Given the description of an element on the screen output the (x, y) to click on. 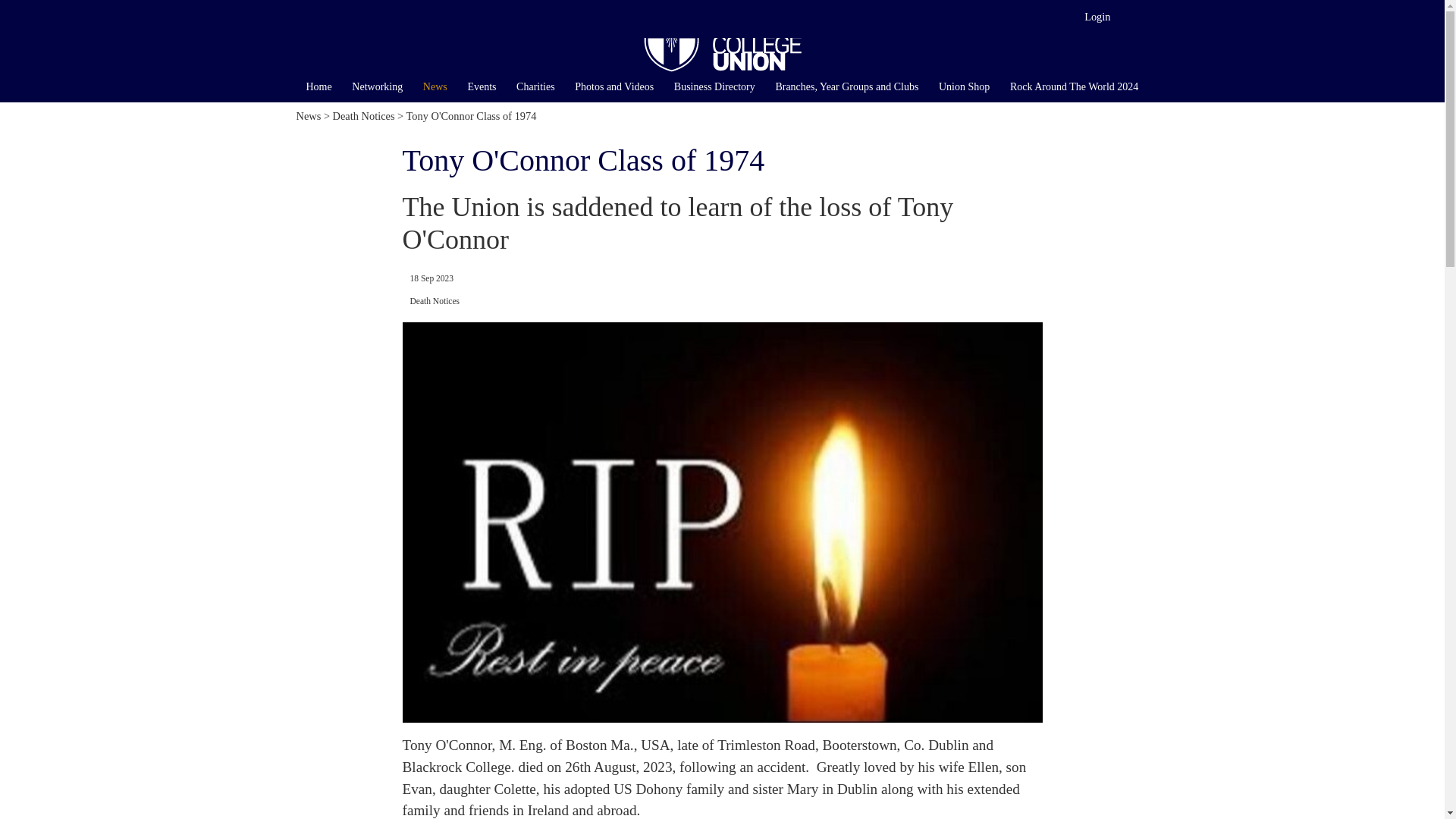
Charities (535, 86)
Death Notices (363, 115)
Death Notices (434, 300)
Business Directory (714, 86)
Union Shop (964, 86)
News (434, 86)
Networking (377, 86)
Events (481, 86)
Photos and Videos (614, 86)
Rock Around The World 2024 (1074, 86)
Login (1096, 16)
News (307, 115)
Home (318, 86)
Branches, Year Groups and Clubs (846, 86)
